Given the description of an element on the screen output the (x, y) to click on. 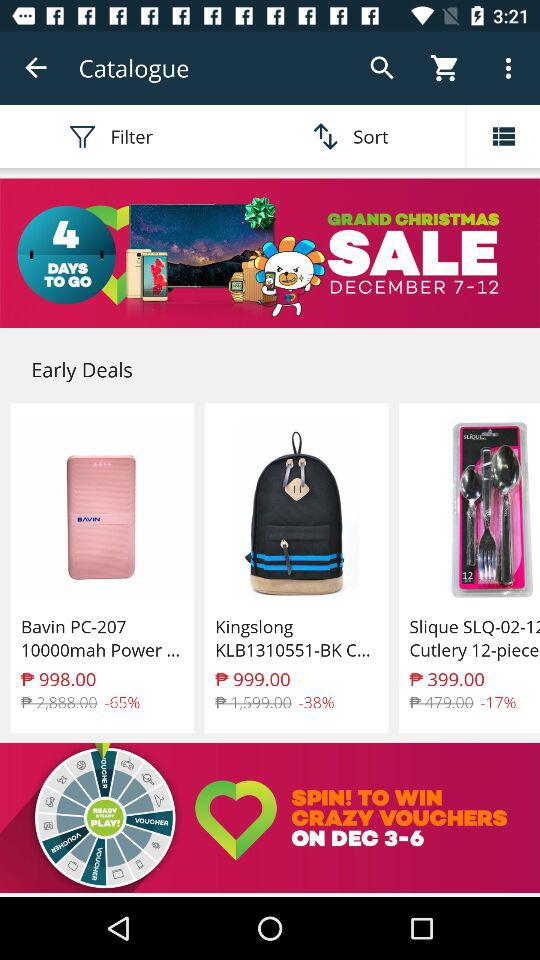
click to win vouchers (270, 817)
